Given the description of an element on the screen output the (x, y) to click on. 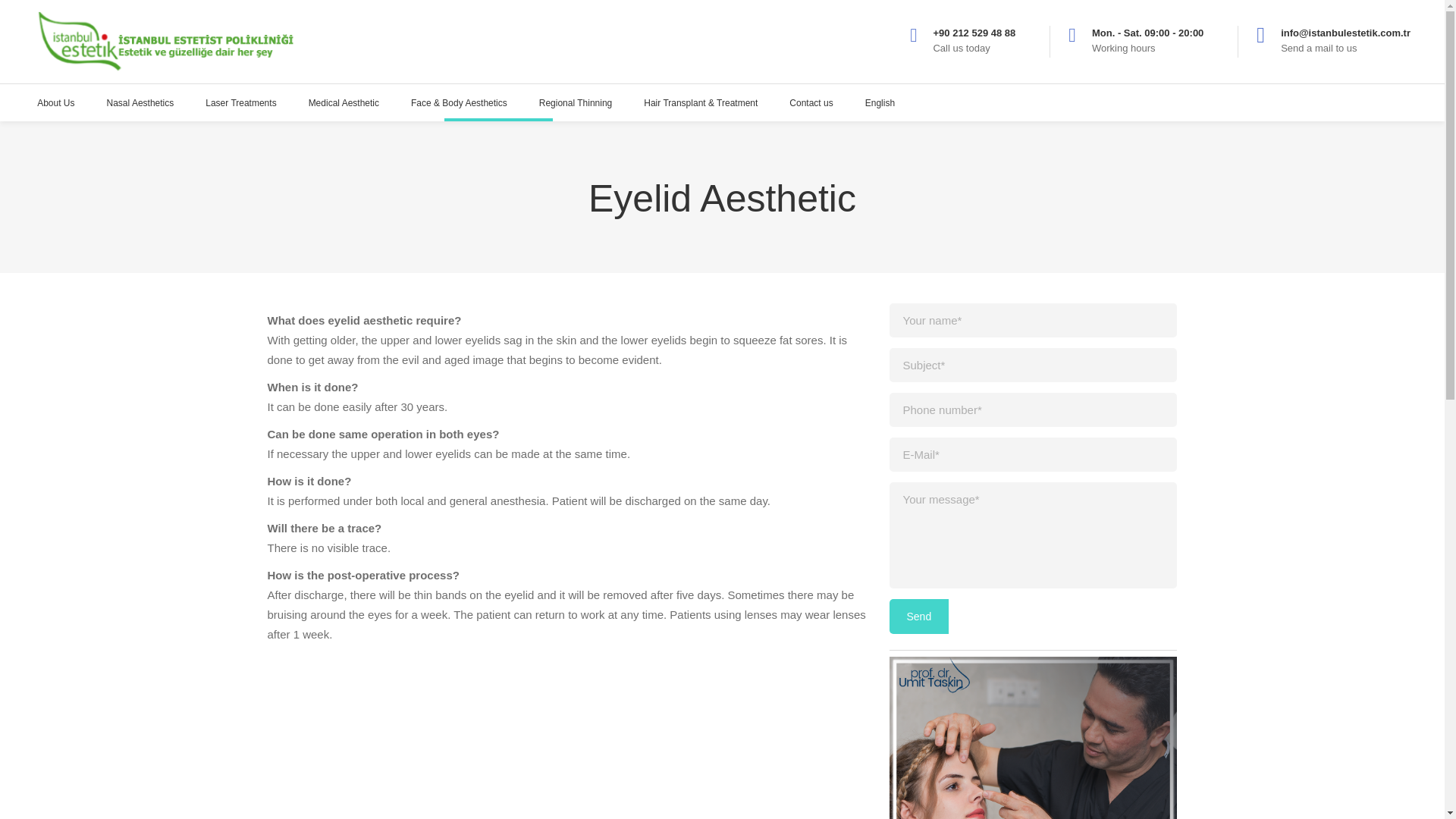
Medical Aesthetic (343, 102)
Nasal Aesthetics (140, 102)
Send (918, 615)
About Us (55, 102)
Laser Treatments (240, 102)
